Given the description of an element on the screen output the (x, y) to click on. 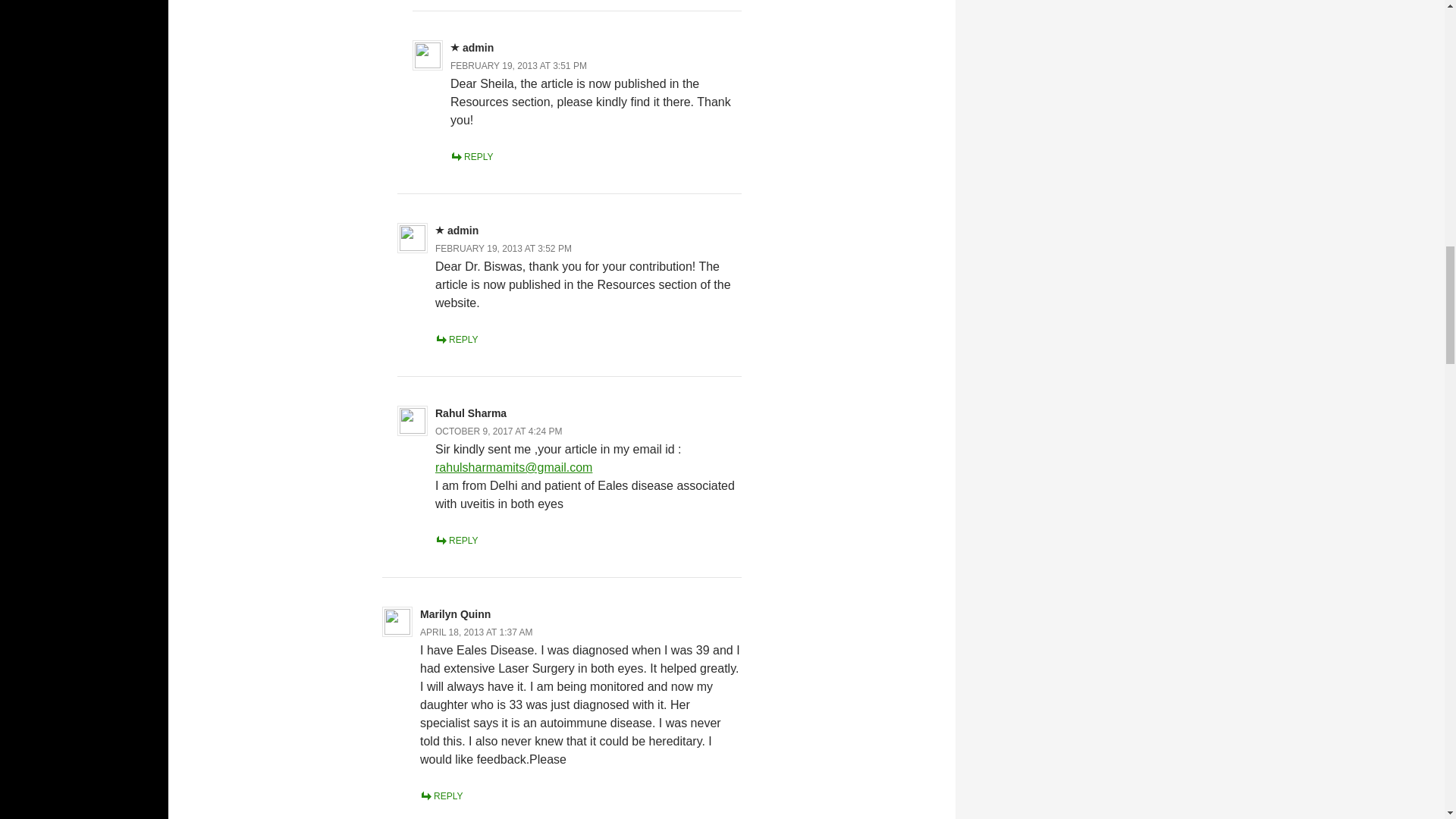
FEBRUARY 19, 2013 AT 3:51 PM (517, 65)
OCTOBER 9, 2017 AT 4:24 PM (498, 430)
Marilyn Quinn (455, 613)
REPLY (456, 540)
APRIL 18, 2013 AT 1:37 AM (476, 632)
REPLY (456, 339)
REPLY (471, 156)
FEBRUARY 19, 2013 AT 3:52 PM (503, 248)
REPLY (441, 796)
